Given the description of an element on the screen output the (x, y) to click on. 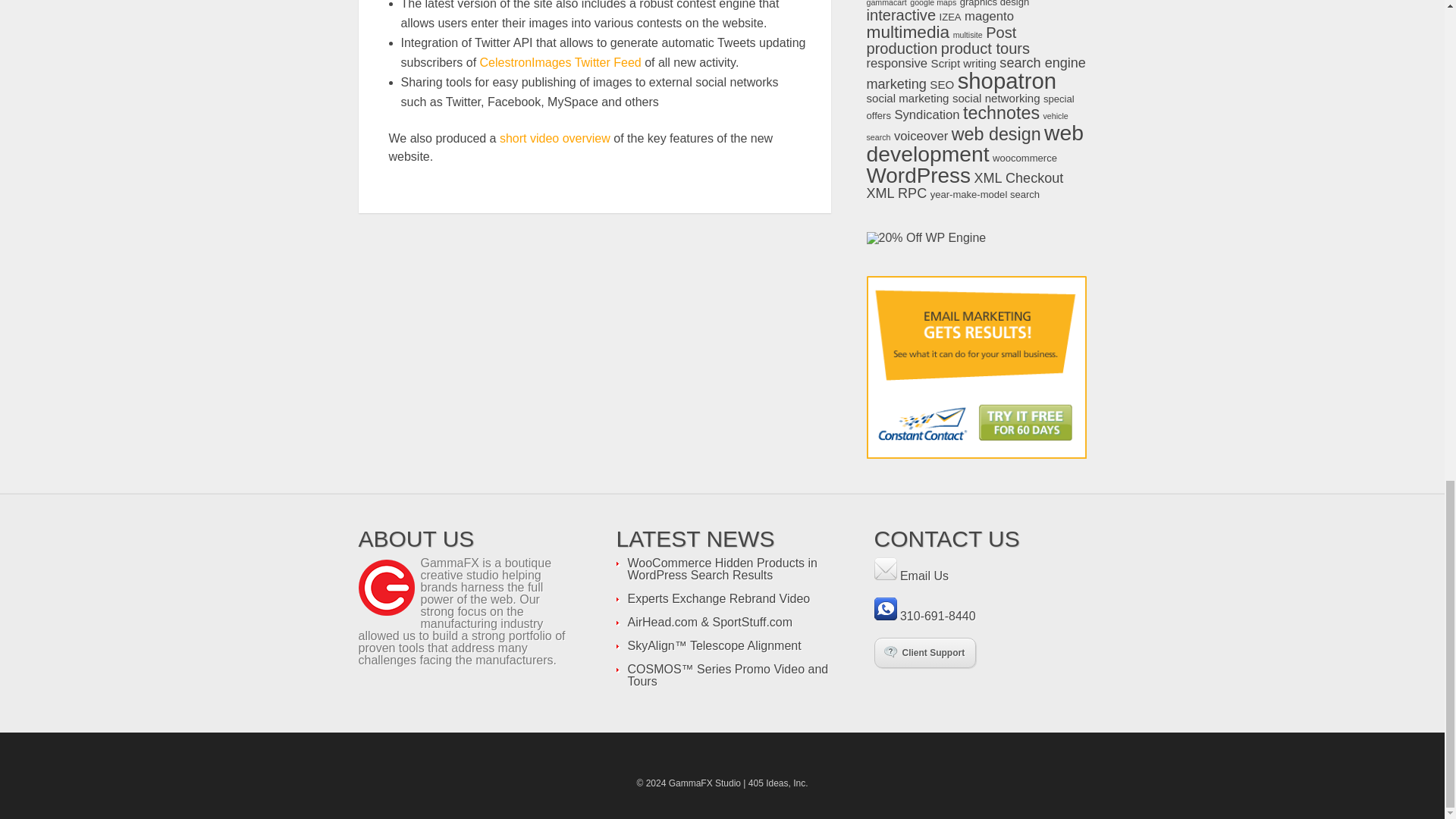
CelestronImages Twitter Feed (562, 62)
Email Marketing (976, 367)
short video overview (555, 137)
